Given the description of an element on the screen output the (x, y) to click on. 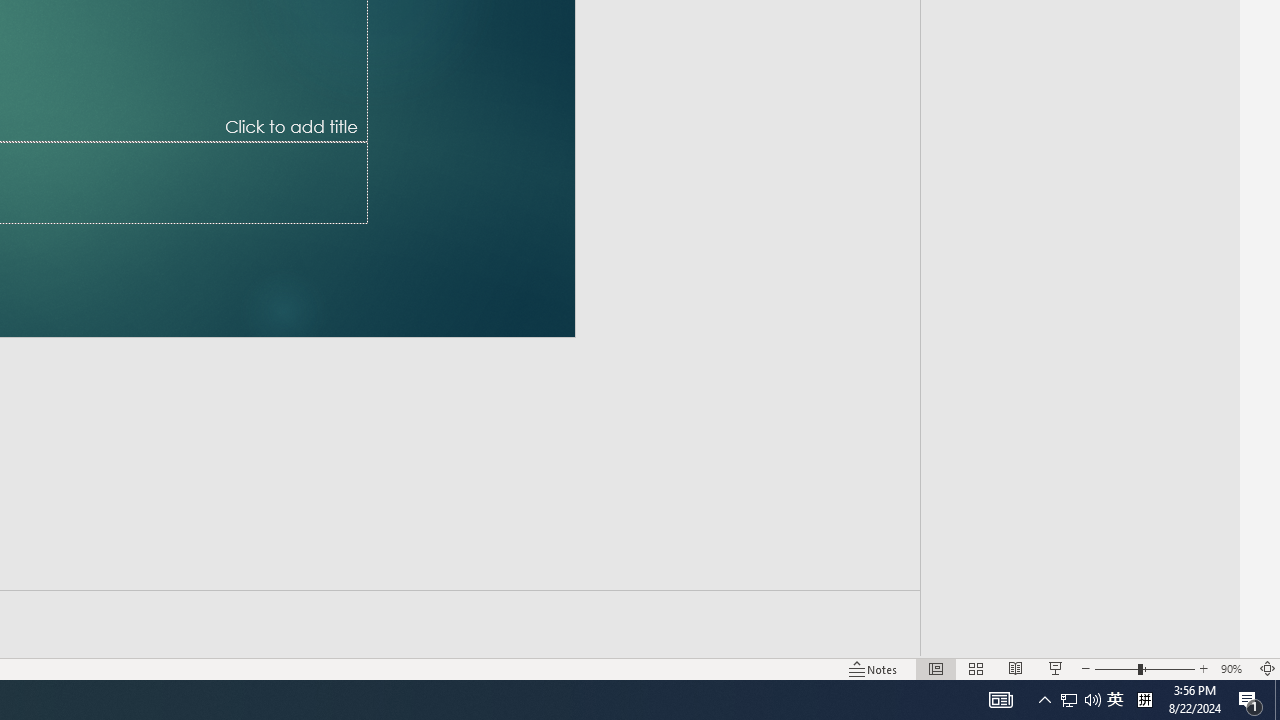
Zoom 90% (1234, 668)
